Given the description of an element on the screen output the (x, y) to click on. 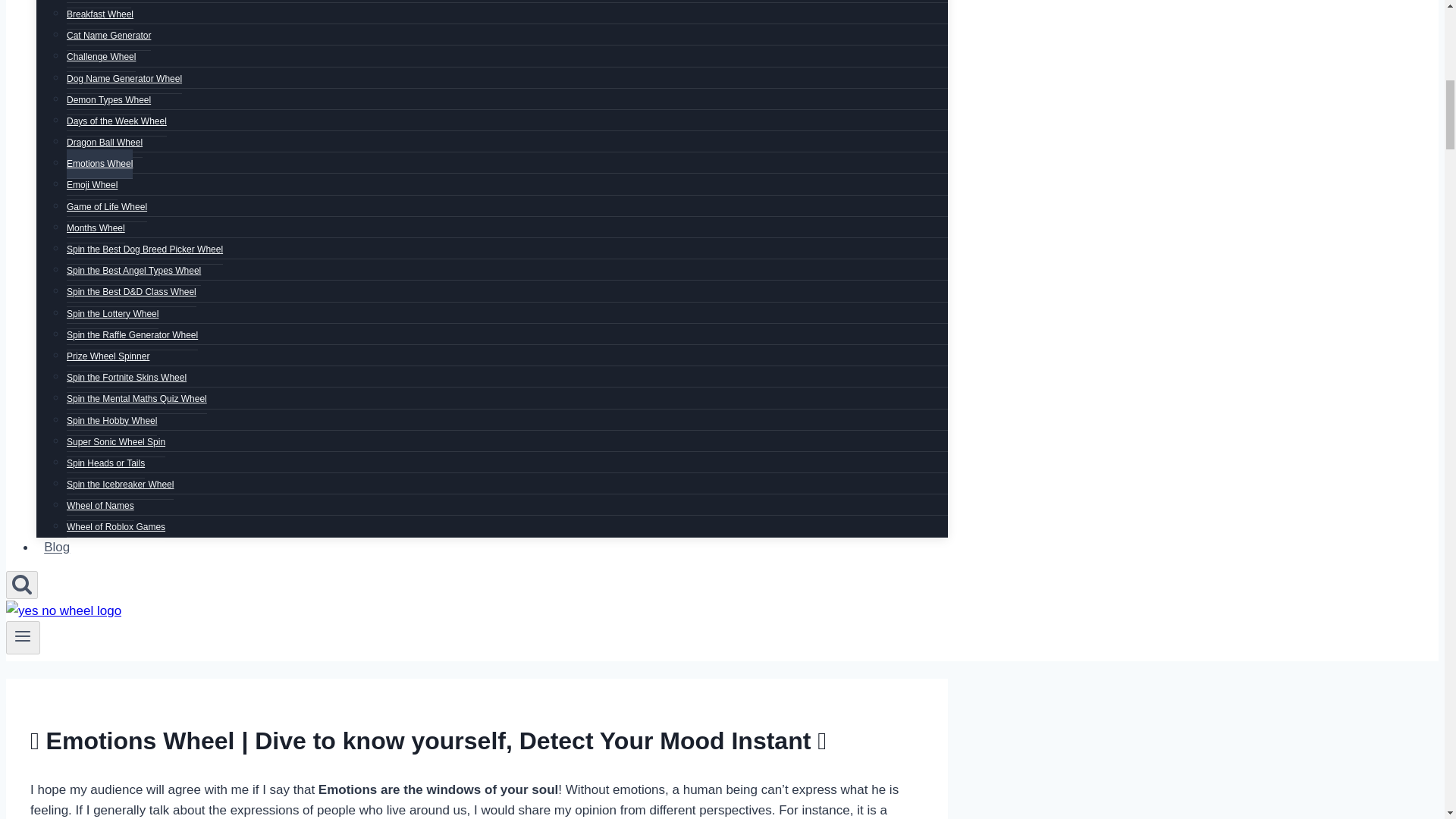
Cat Name Generator (108, 35)
Search (21, 583)
Alphabet Wheel (98, 4)
Toggle Menu (22, 636)
Challenge Wheel (100, 57)
Breakfast Wheel (99, 14)
